Given the description of an element on the screen output the (x, y) to click on. 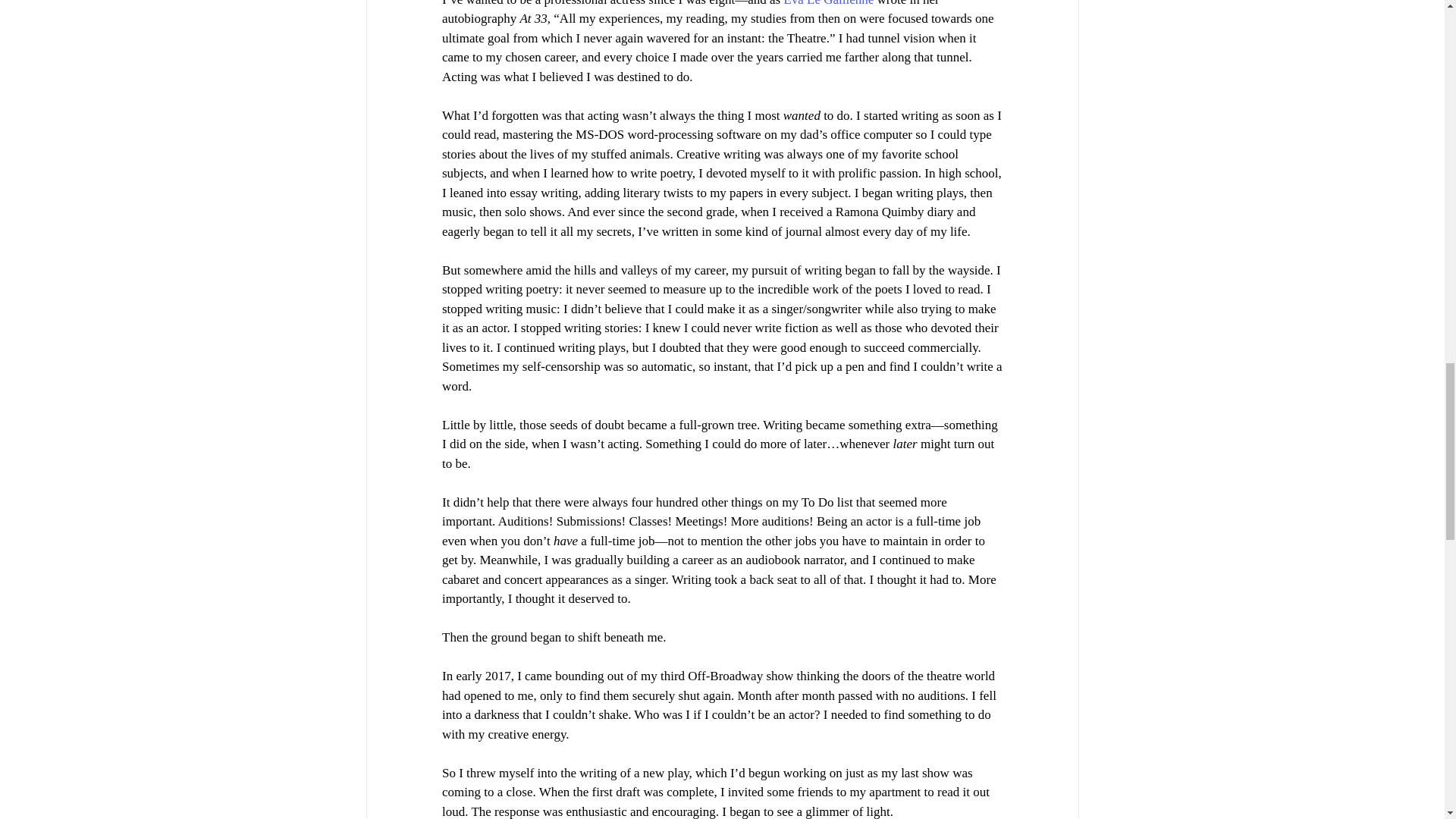
Eva Le Gallienne (828, 3)
